Given the description of an element on the screen output the (x, y) to click on. 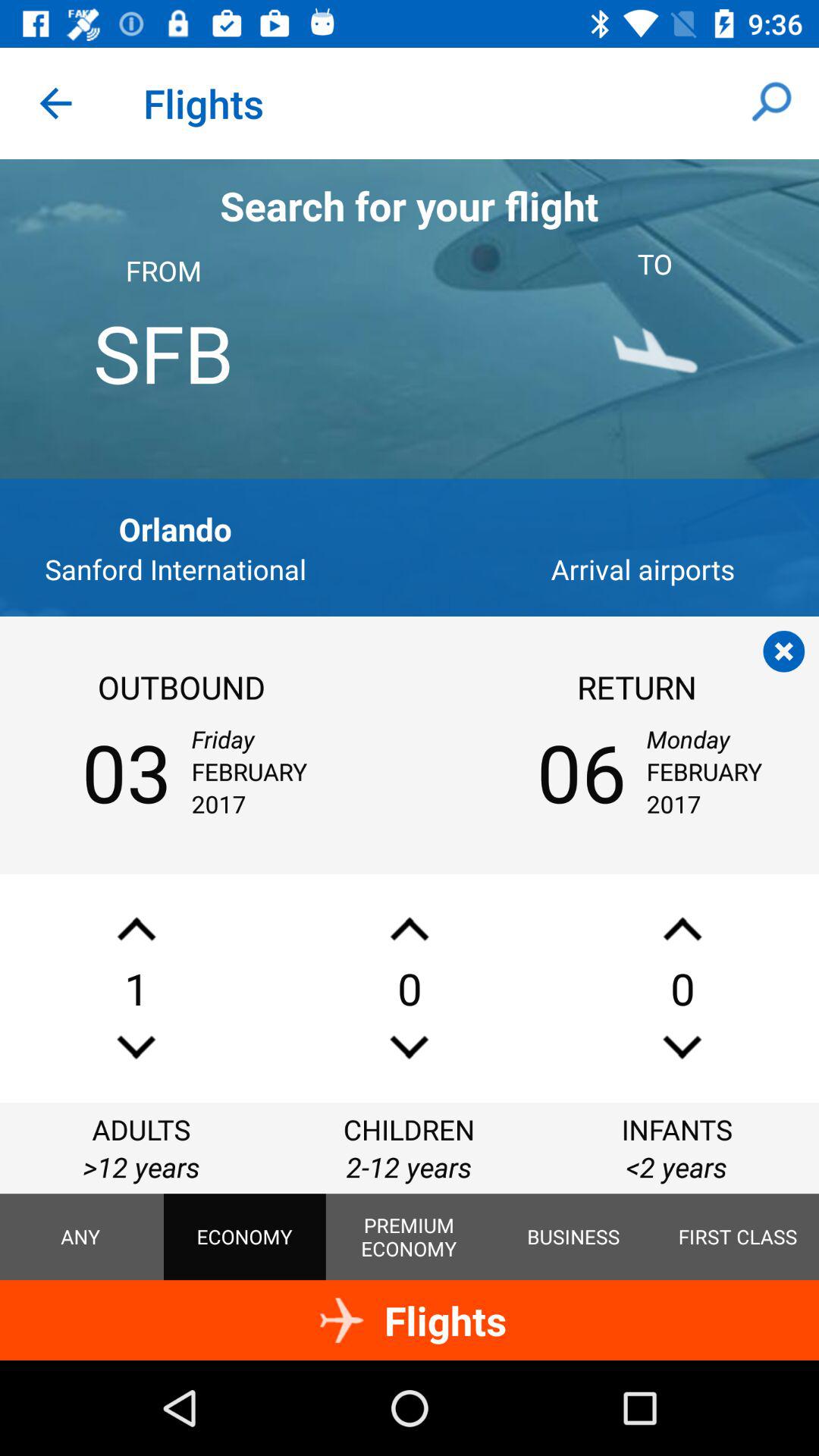
close the page (784, 651)
